Given the description of an element on the screen output the (x, y) to click on. 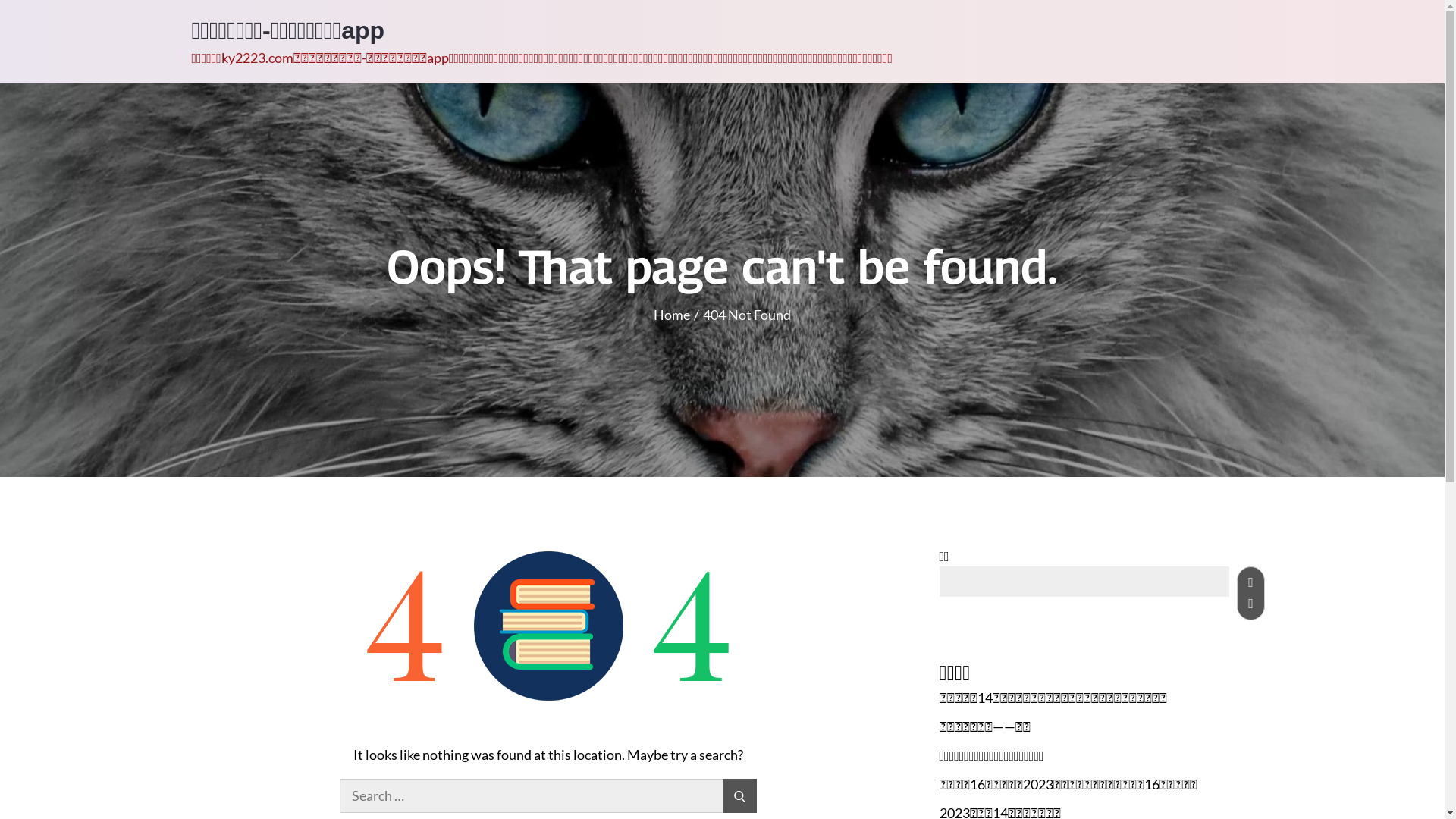
Home Element type: text (671, 314)
Search Element type: text (739, 795)
